Given the description of an element on the screen output the (x, y) to click on. 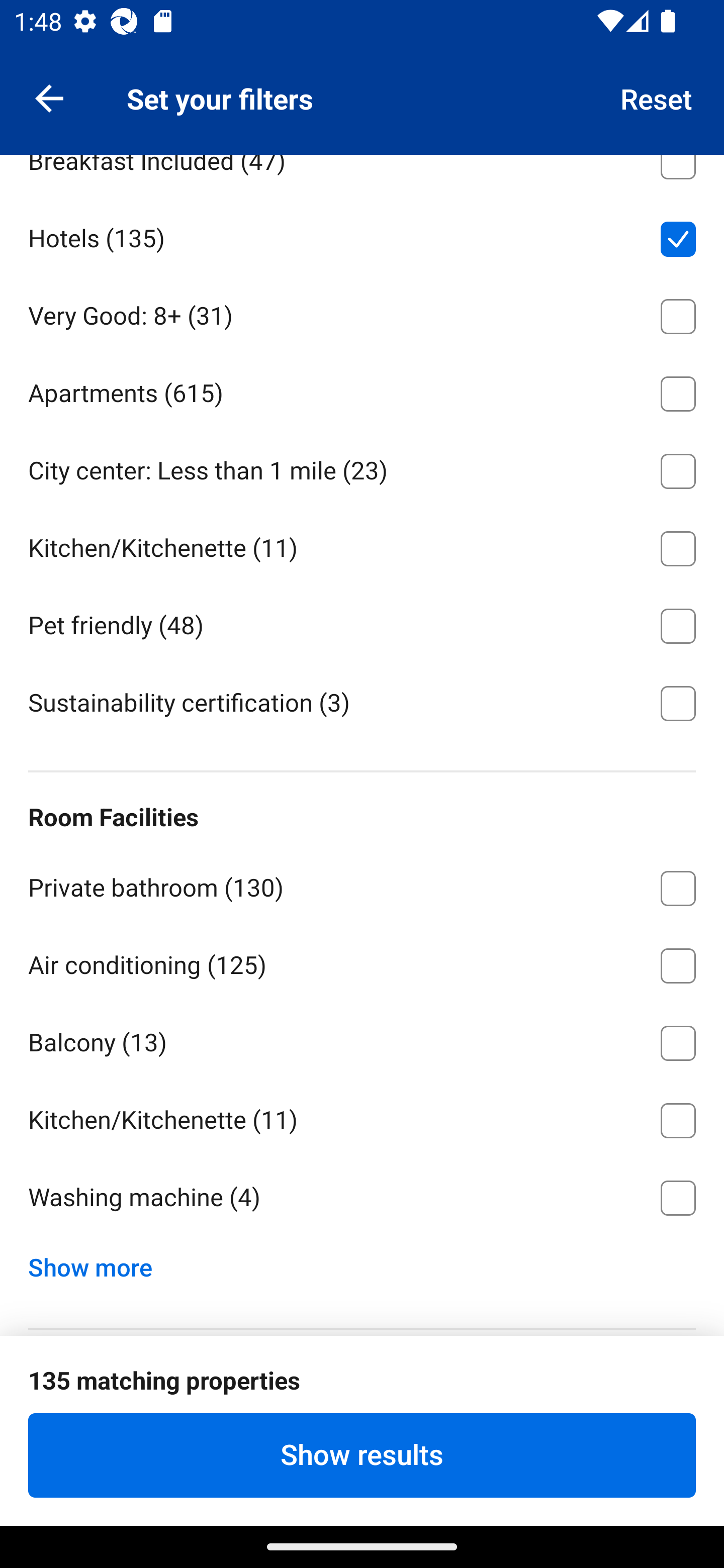
Navigate up (49, 97)
Reset (656, 97)
Breakfast Included ⁦(47) (361, 176)
Hotels ⁦(135) (361, 235)
Very Good: 8+ ⁦(31) (361, 312)
Apartments ⁦(615) (361, 390)
City center: Less than 1 mile ⁦(23) (361, 467)
Kitchen/Kitchenette ⁦(11) (361, 544)
Pet friendly ⁦(48) (361, 622)
Sustainability certification ⁦(3) (361, 701)
Private bathroom ⁦(130) (361, 884)
Air conditioning ⁦(125) (361, 961)
Balcony ⁦(13) (361, 1039)
Kitchen/Kitchenette ⁦(11) (361, 1116)
Washing machine ⁦(4) (361, 1197)
Show more (97, 1262)
Show results (361, 1454)
